Given the description of an element on the screen output the (x, y) to click on. 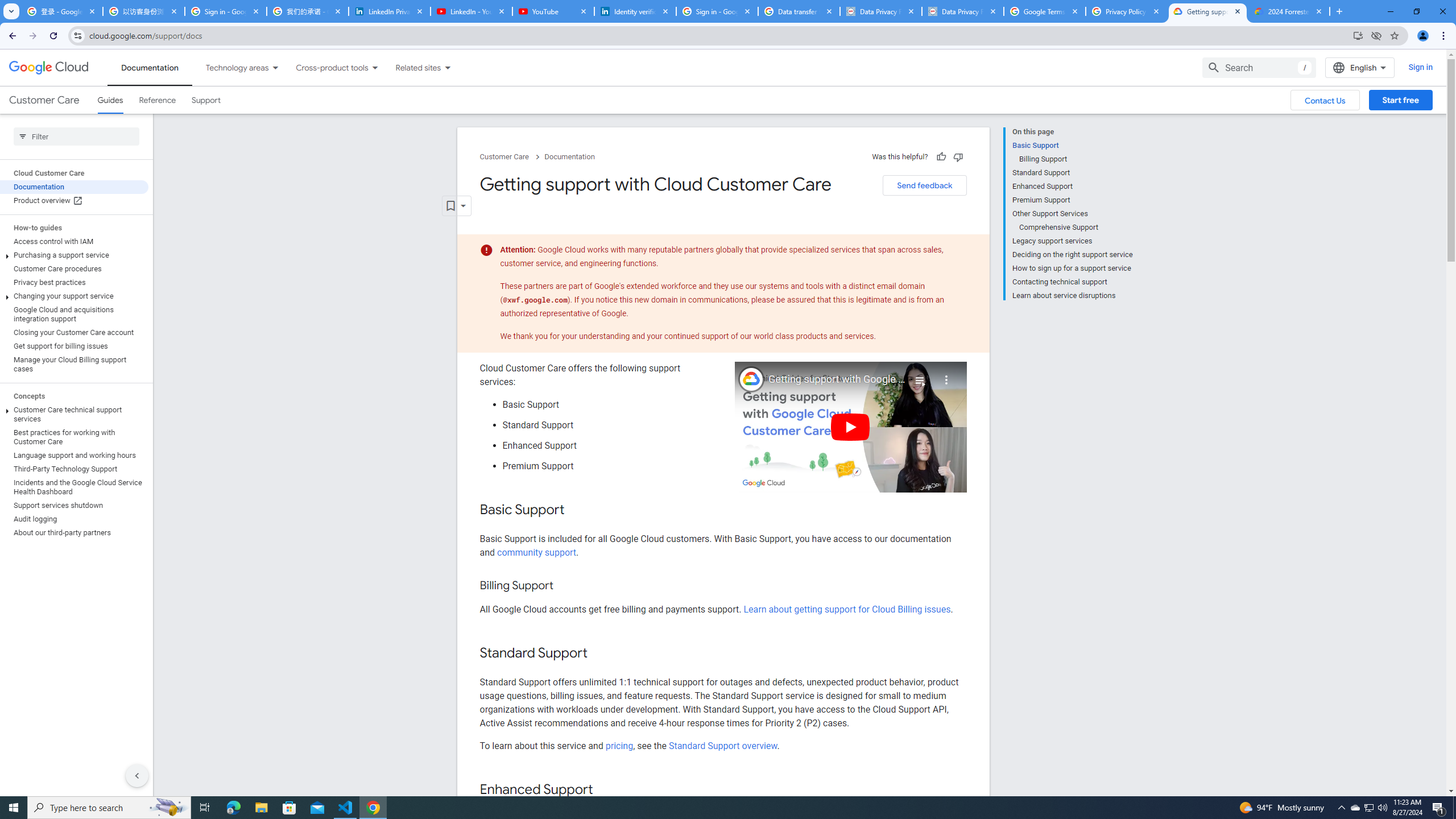
Customer Care procedures (74, 269)
Comprehensive Support (1075, 227)
Get support for billing issues (74, 345)
Reference (157, 99)
Documentation (569, 156)
Start free (1400, 100)
Enhanced Support (1071, 186)
Support services shutdown (74, 505)
Changing your support service (74, 296)
Cross-product tools (325, 67)
